Given the description of an element on the screen output the (x, y) to click on. 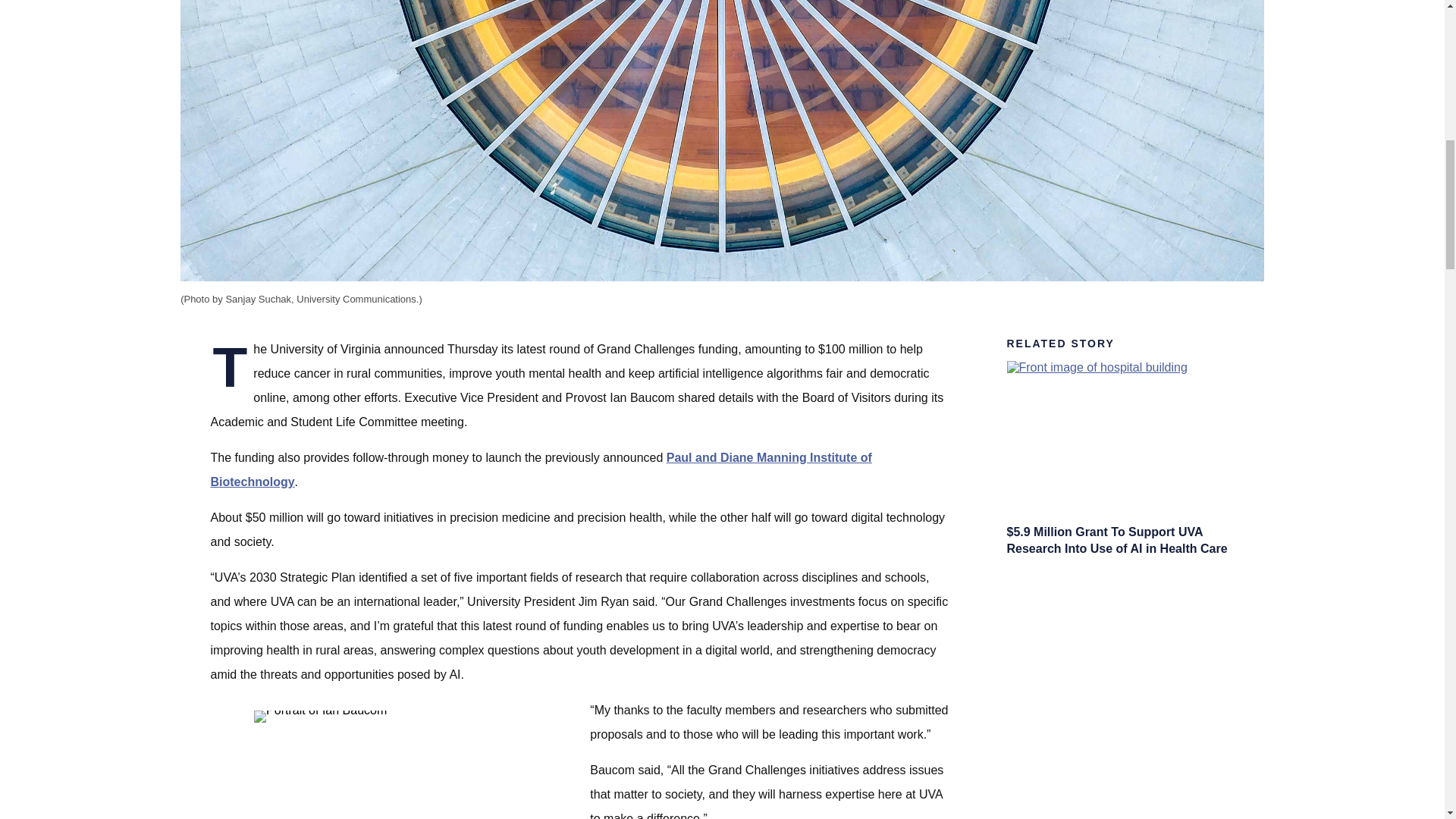
Paul and Diane Manning Institute of Biotechnology (541, 469)
